Given the description of an element on the screen output the (x, y) to click on. 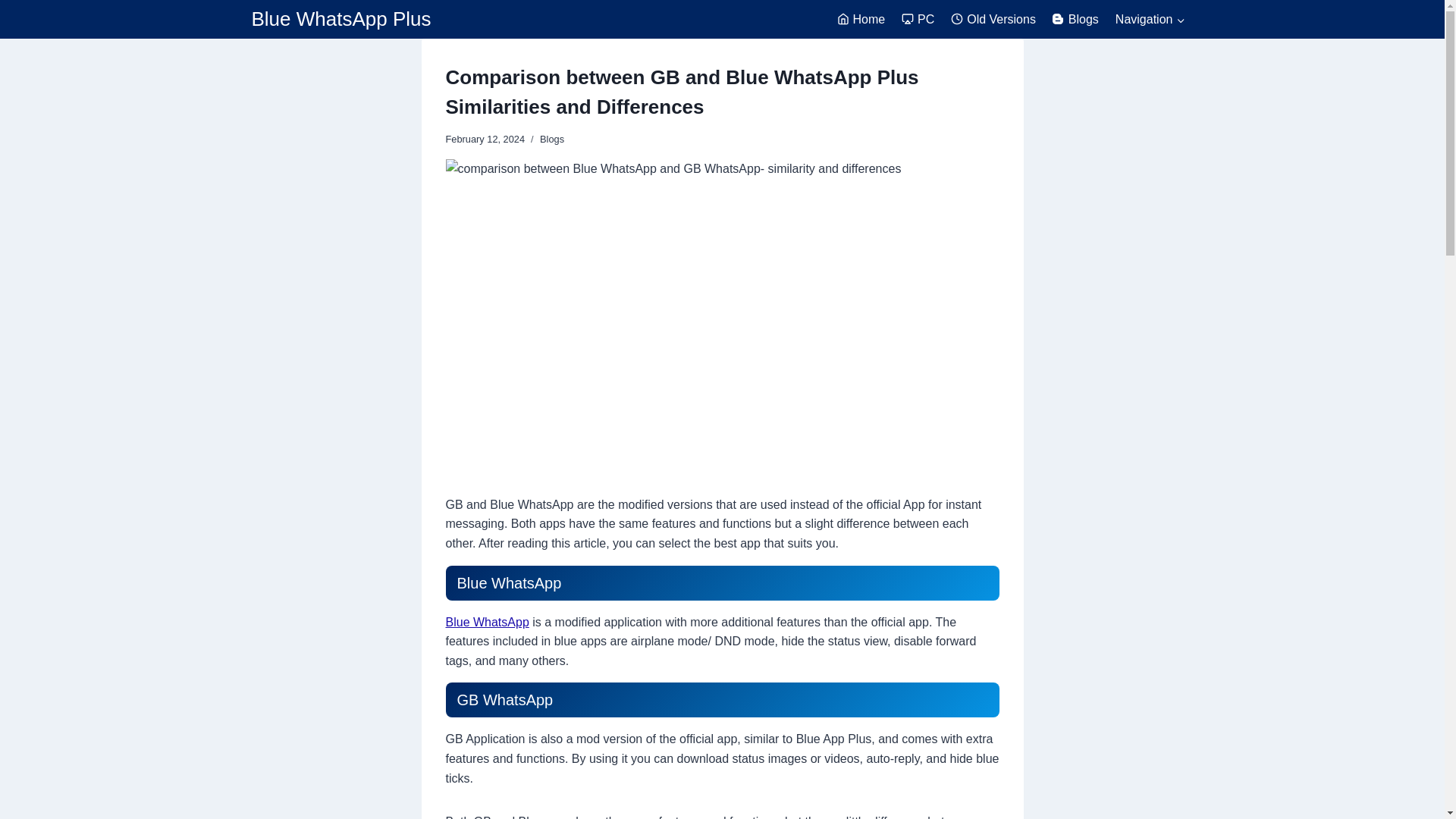
Blogs (552, 138)
Navigation (1149, 19)
Blue WhatsApp Plus (340, 19)
Home (860, 19)
Blue WhatsApp (487, 621)
PC (917, 19)
Blogs (1074, 19)
Old Versions (992, 19)
